Given the description of an element on the screen output the (x, y) to click on. 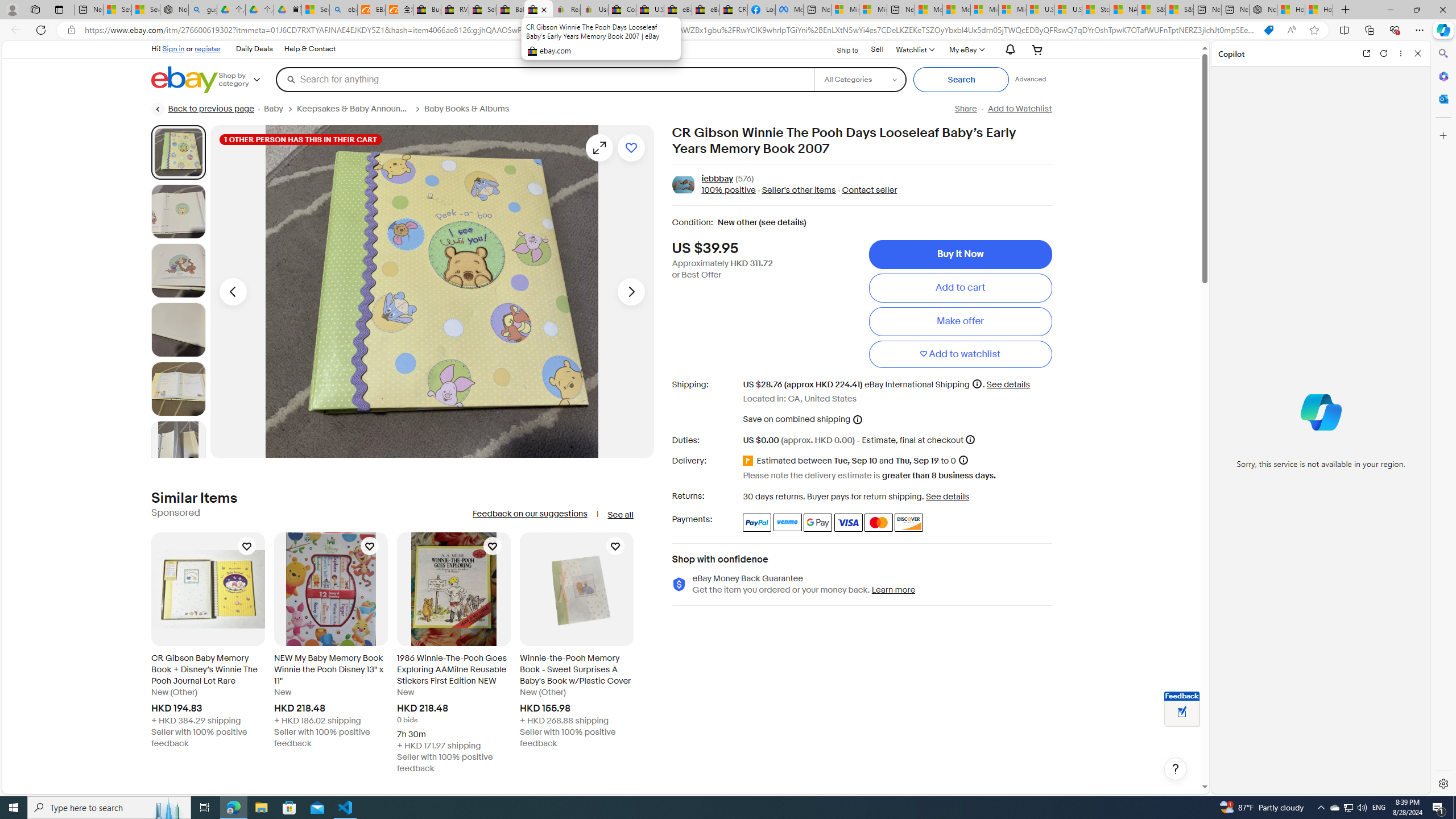
Picture 3 of 22 (178, 270)
Daily Deals (254, 49)
Add to watchlist (959, 353)
Next image - Item images thumbnails (631, 291)
Expand Cart (1037, 49)
PayPal (756, 521)
Picture 6 of 22 (178, 448)
  Contact seller (865, 190)
Feedback on our suggestions (529, 513)
